Given the description of an element on the screen output the (x, y) to click on. 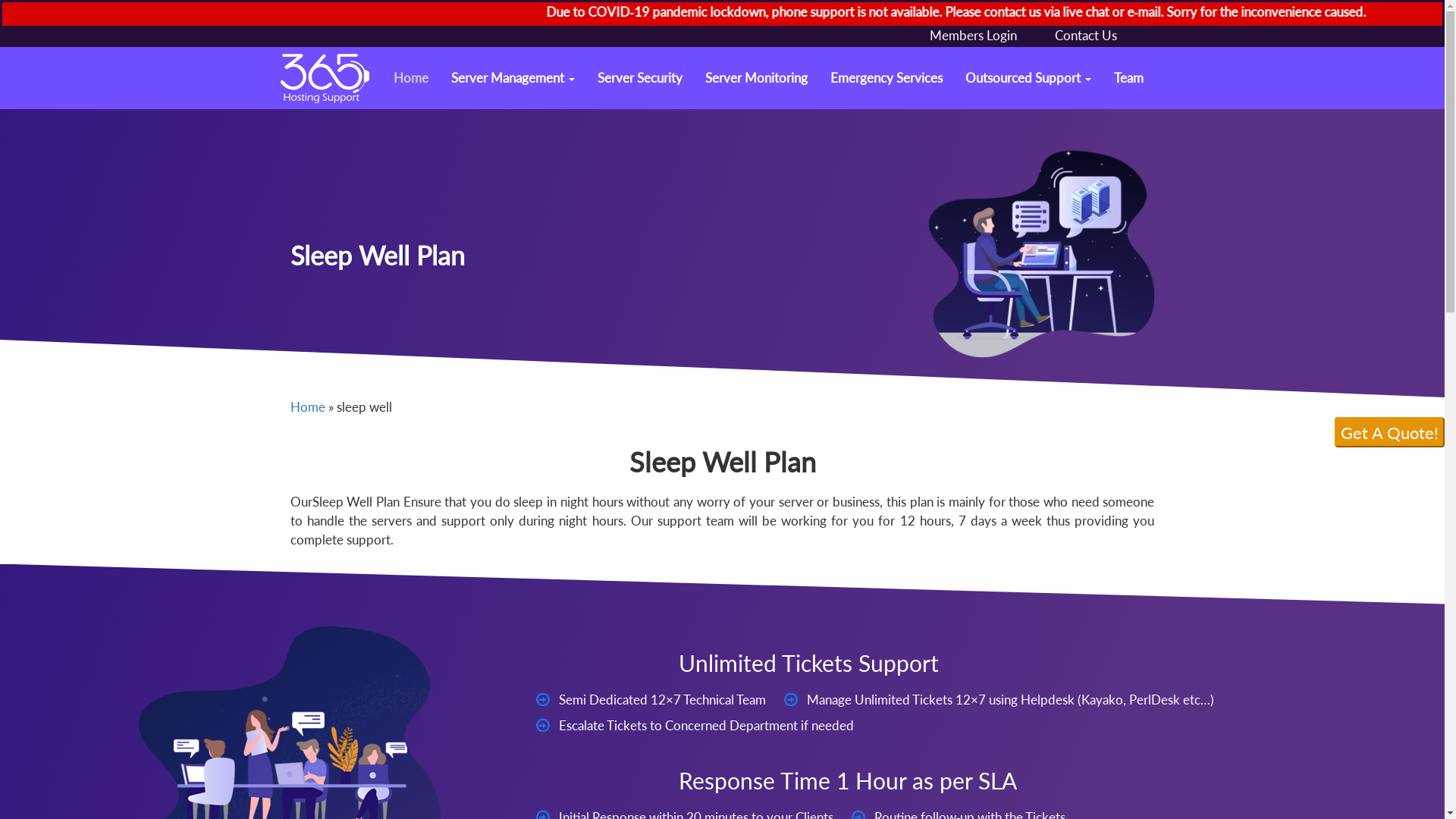
Server Monitoring Element type: text (755, 78)
Server Management Element type: text (512, 78)
Server Security Element type: text (639, 78)
Team Element type: text (1128, 78)
Members Login Element type: text (972, 34)
Home Element type: text (306, 406)
Home Element type: text (410, 78)
Outsourced Support Element type: text (1027, 78)
Contact Us Element type: text (1085, 34)
Get A Quote! Element type: text (1389, 432)
Emergency Services Element type: text (886, 78)
